Given the description of an element on the screen output the (x, y) to click on. 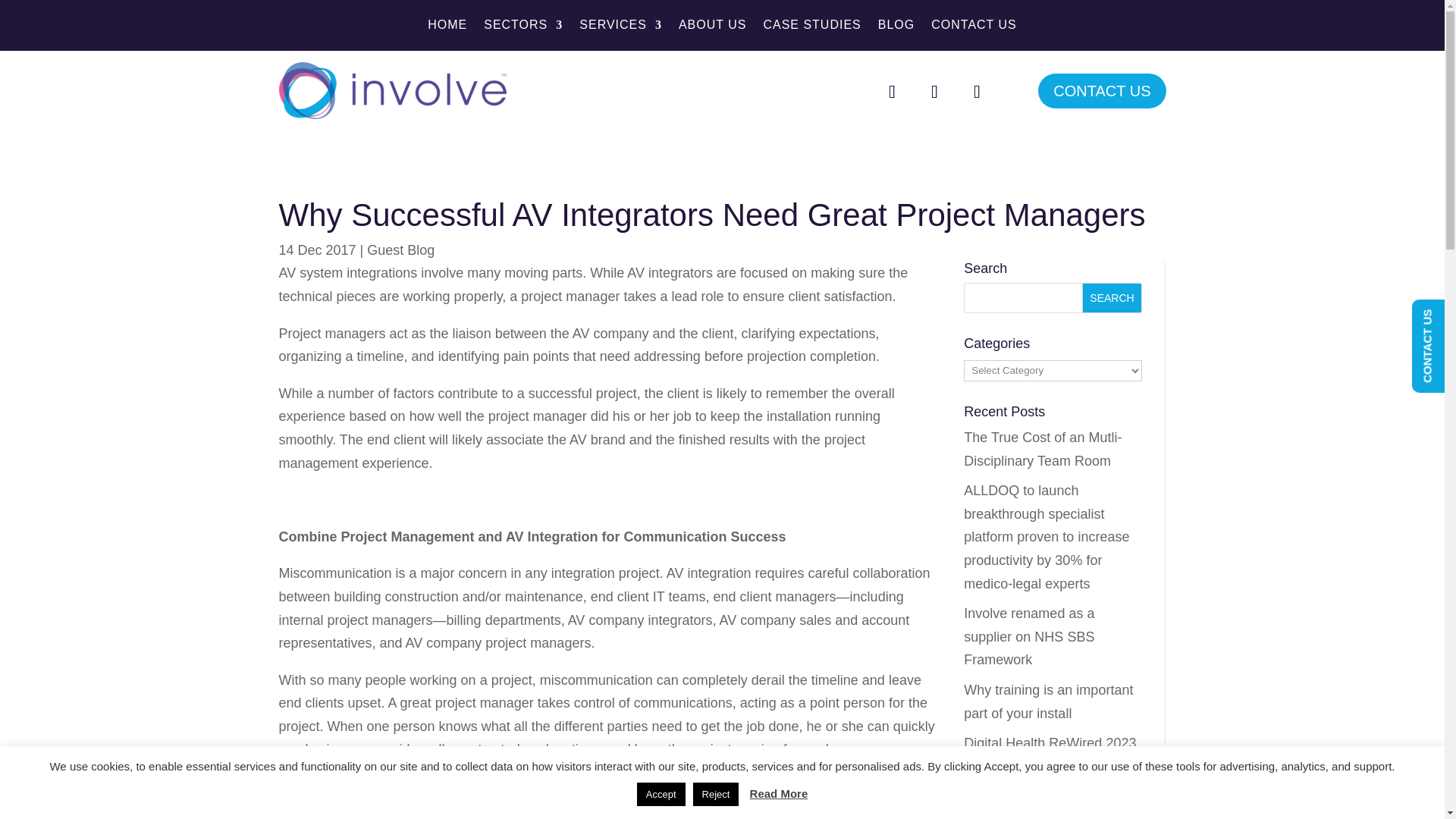
Follow on X (933, 91)
Follow on Facebook (891, 91)
Follow on LinkedIn (976, 91)
Involve (392, 90)
Search (1111, 297)
SECTORS (522, 28)
HOME (447, 28)
